Given the description of an element on the screen output the (x, y) to click on. 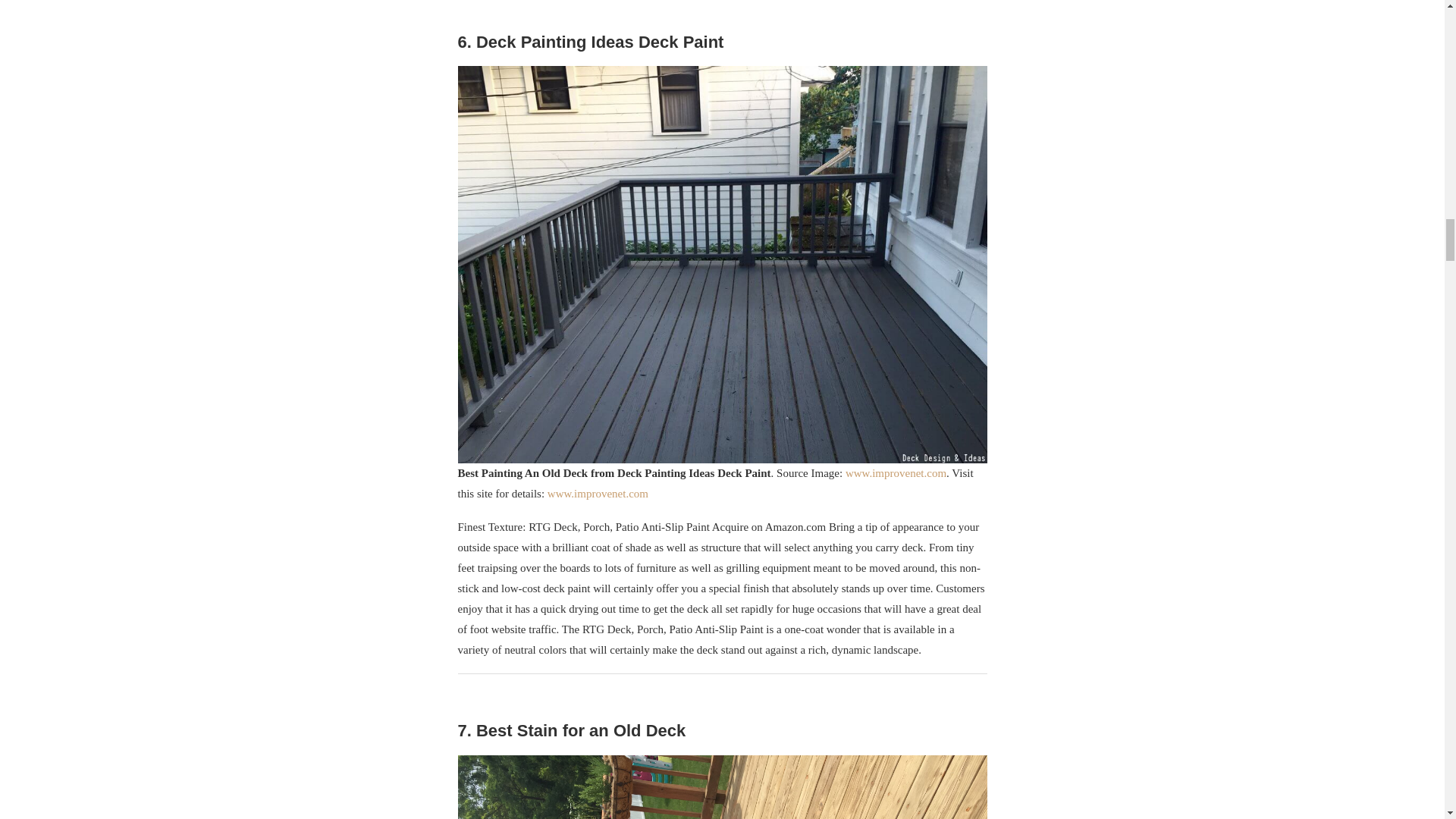
best stain for an old deck (722, 787)
